Given the description of an element on the screen output the (x, y) to click on. 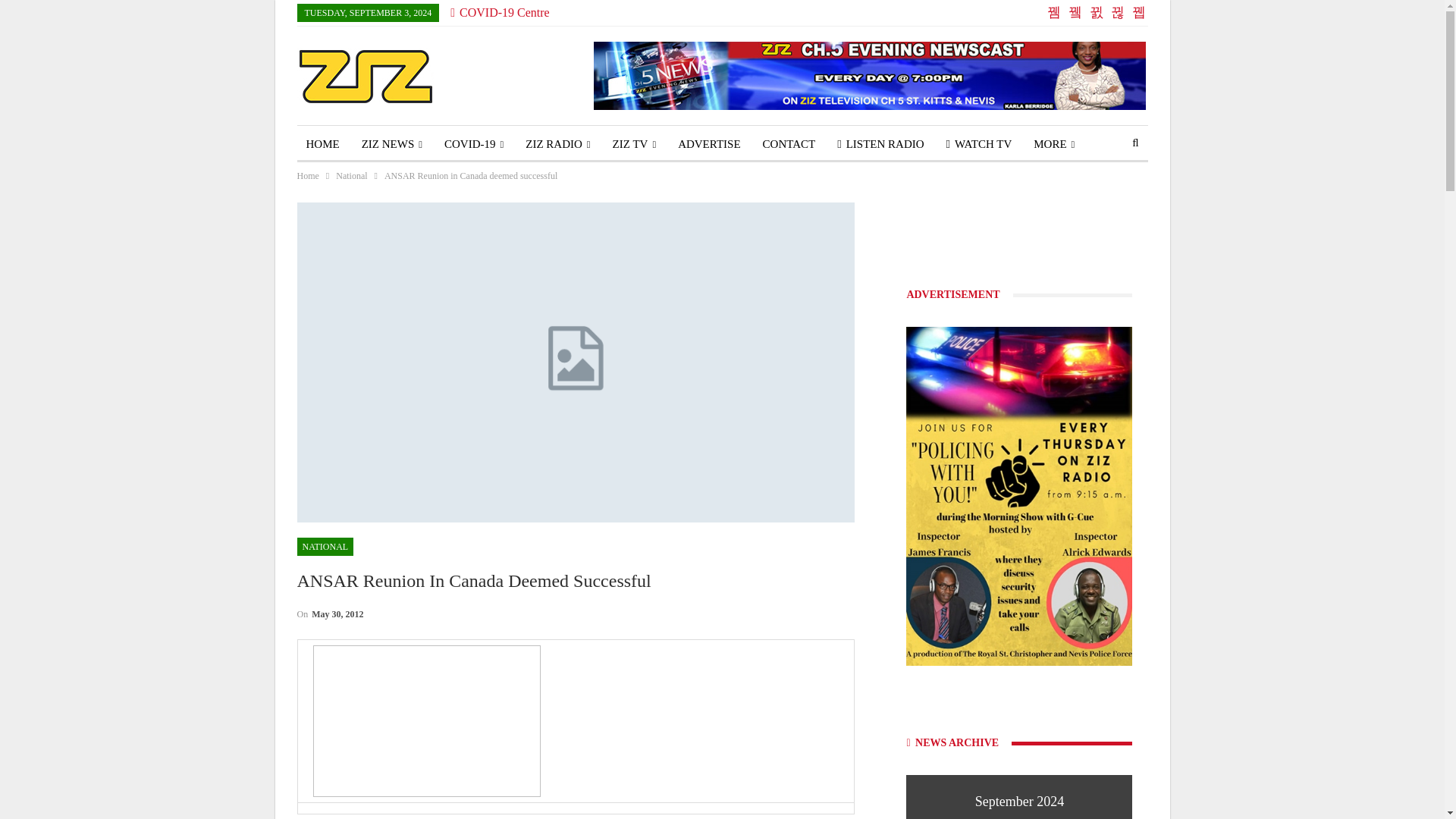
HOME (323, 144)
ZIZ RADIO (557, 144)
ZIZ NEWS (391, 144)
COVID-19 Centre (498, 11)
COVID-19 (473, 144)
